Given the description of an element on the screen output the (x, y) to click on. 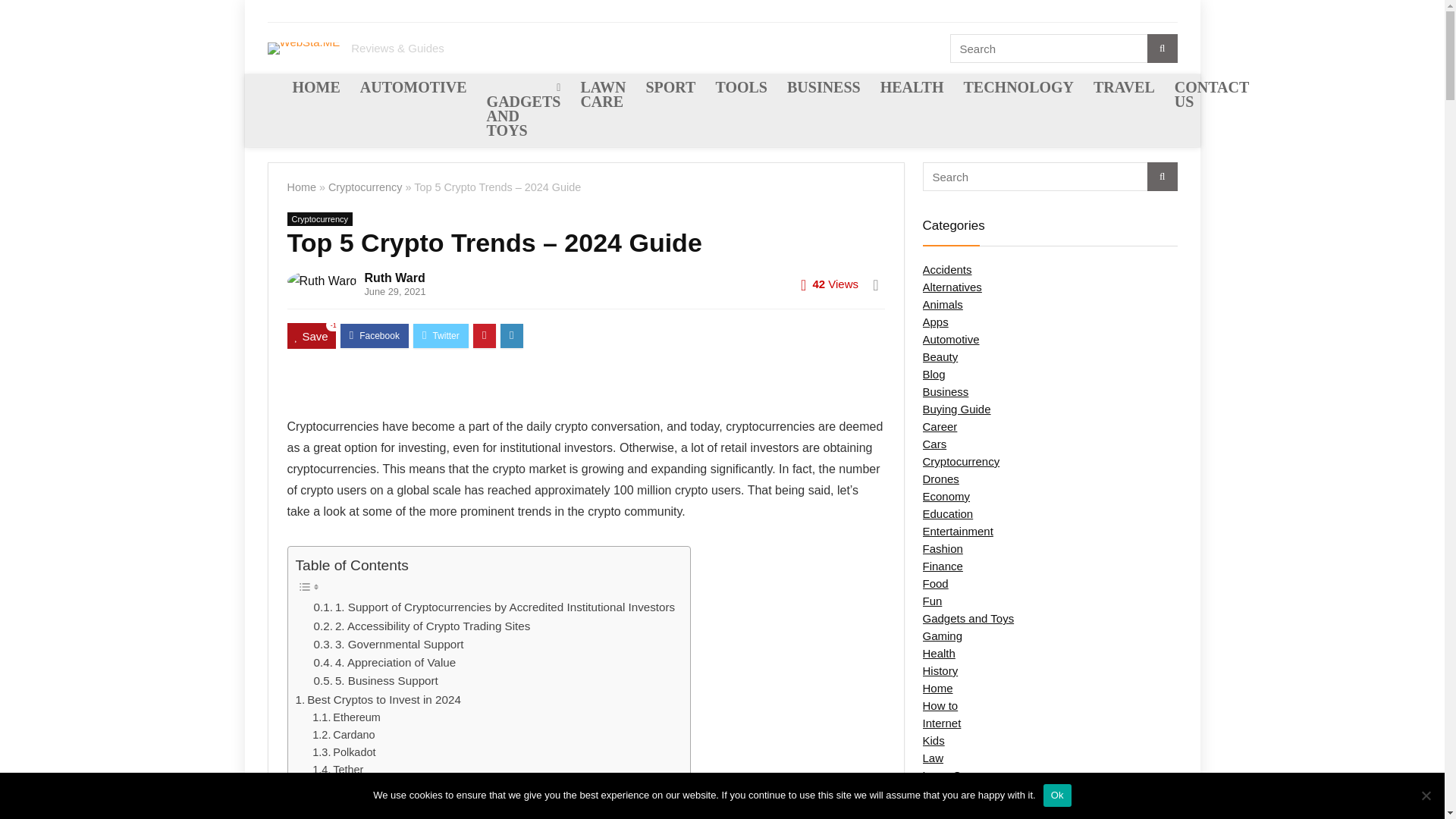
TOOLS (740, 88)
5. Business Support (376, 680)
Ethereum (346, 717)
TRAVEL (1123, 88)
Ethereum (346, 717)
Best Cryptos to Invest in 2024 (378, 700)
BUSINESS (823, 88)
3. Governmental Support (389, 644)
Tether (337, 769)
Cryptocurrency (366, 186)
HOME (315, 88)
SPORT (669, 88)
AUTOMOTIVE (413, 88)
